Given the description of an element on the screen output the (x, y) to click on. 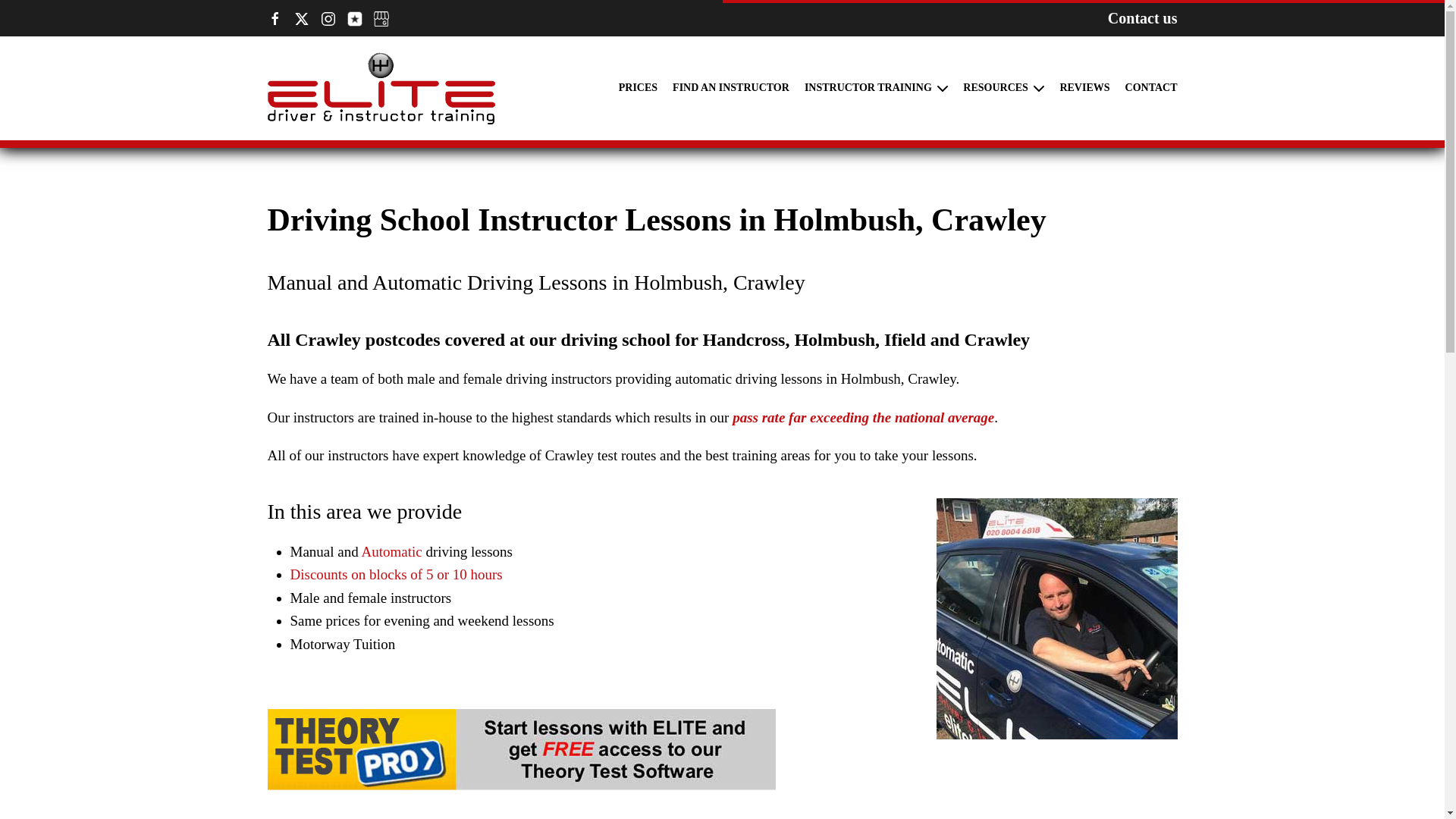
FIND AN INSTRUCTOR (730, 88)
RESOURCES (1002, 88)
PRICES (638, 88)
CONTACT (1151, 88)
Automatic (391, 551)
REVIEWS (1084, 88)
ELITE 208 (1056, 618)
Discounts on blocks of 5 or 10 hours (395, 574)
Contact us (1142, 17)
INSTRUCTOR TRAINING (876, 88)
